Given the description of an element on the screen output the (x, y) to click on. 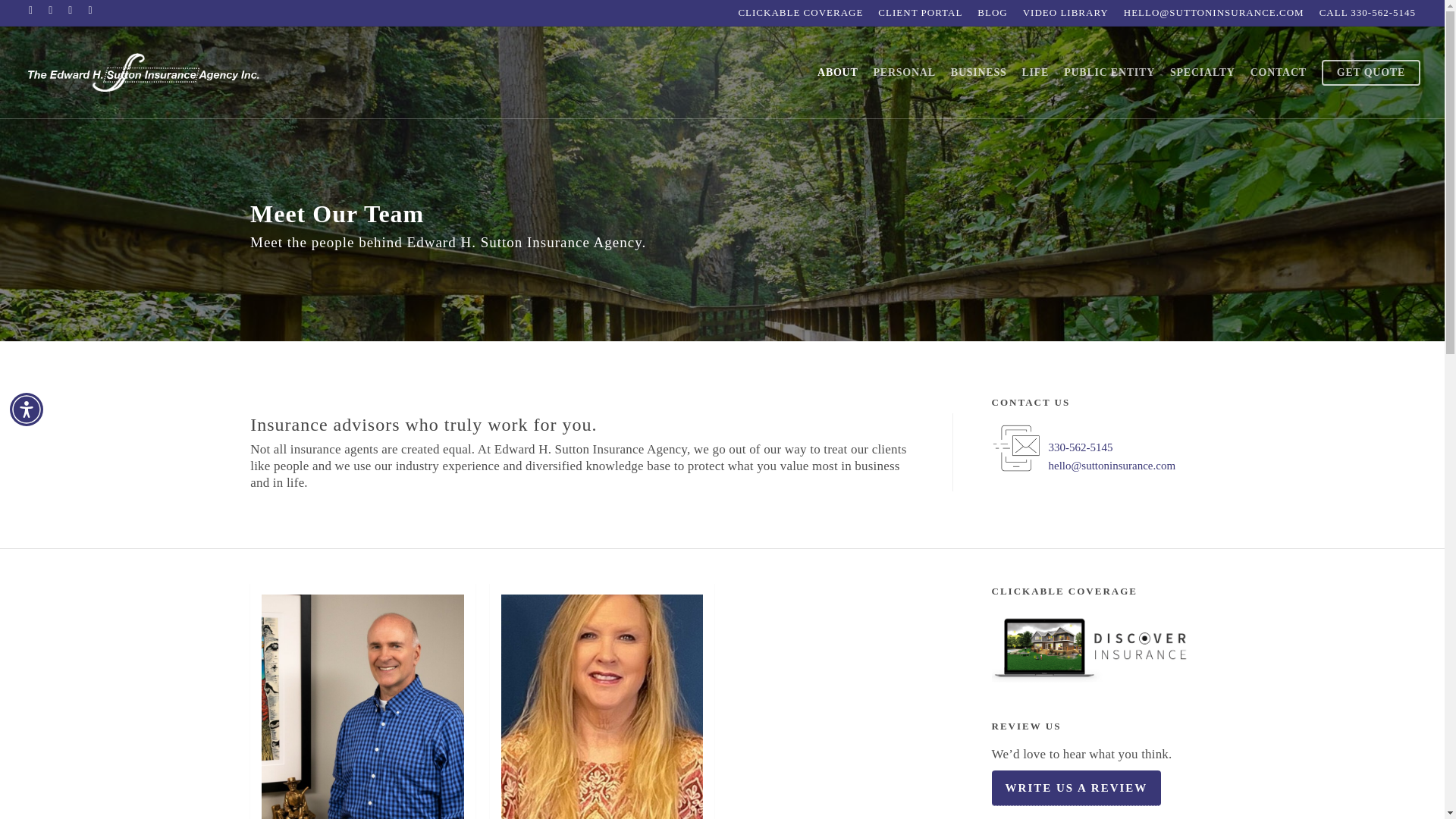
CLIENT PORTAL (919, 12)
ABOUT (837, 72)
BLOG (991, 12)
330-562-5145 (1080, 447)
LIFE (1035, 72)
VIDEO LIBRARY (1065, 12)
CALL 330-562-5145 (1367, 12)
CLICKABLE COVERAGE (800, 12)
GET QUOTE (1371, 72)
WRITE US A REVIEW (1076, 787)
SPECIALTY (1202, 72)
PERSONAL (904, 72)
PUBLIC ENTITY (1109, 72)
BUSINESS (978, 72)
Accessibility Menu (26, 409)
